Given the description of an element on the screen output the (x, y) to click on. 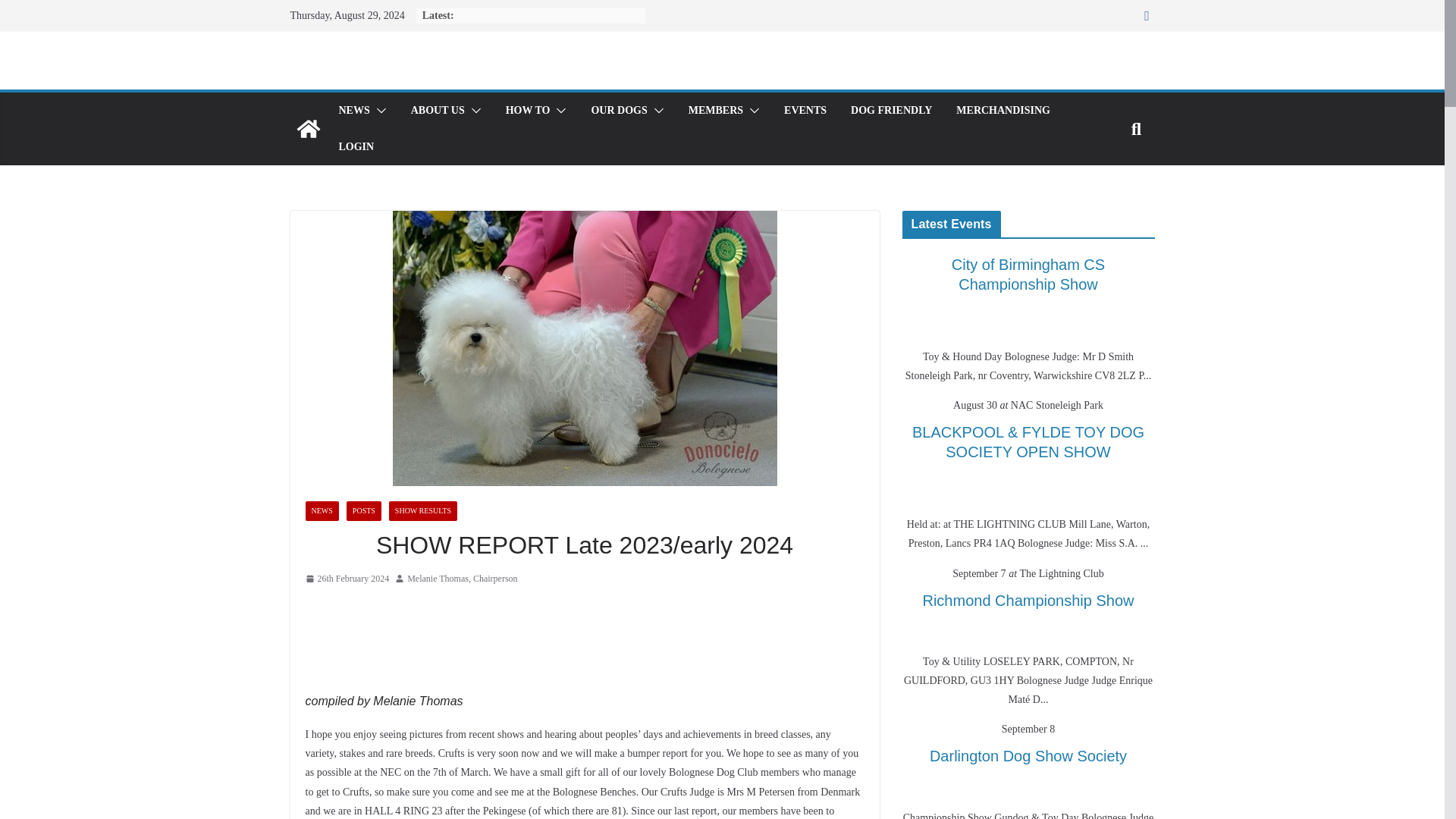
LOGIN (355, 147)
ABOUT US (437, 110)
EVENTS (805, 110)
Bolognese Dog Club UK (307, 128)
OUR DOGS (618, 110)
MERCHANDISING (1002, 110)
MEMBERS (715, 110)
5:44 pm (346, 579)
Melanie Thomas, Chairperson (461, 579)
DOG FRIENDLY (890, 110)
